Given the description of an element on the screen output the (x, y) to click on. 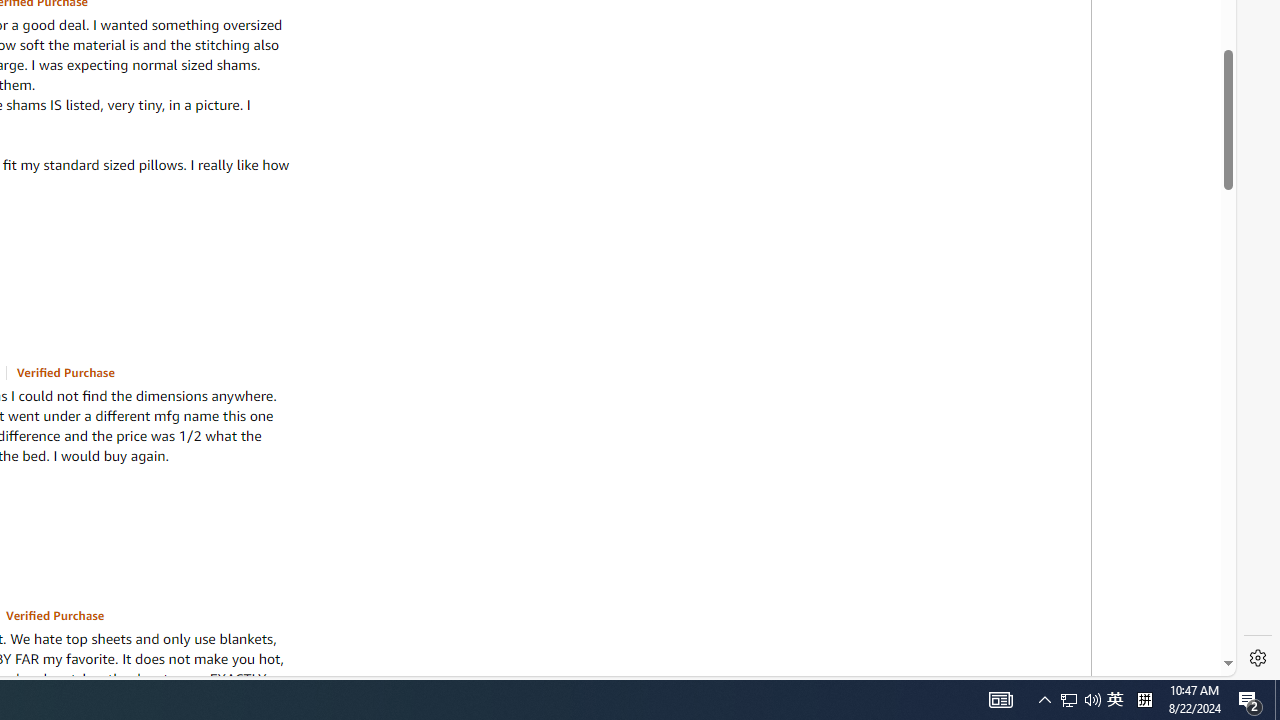
Verified Purchase (55, 615)
